Given the description of an element on the screen output the (x, y) to click on. 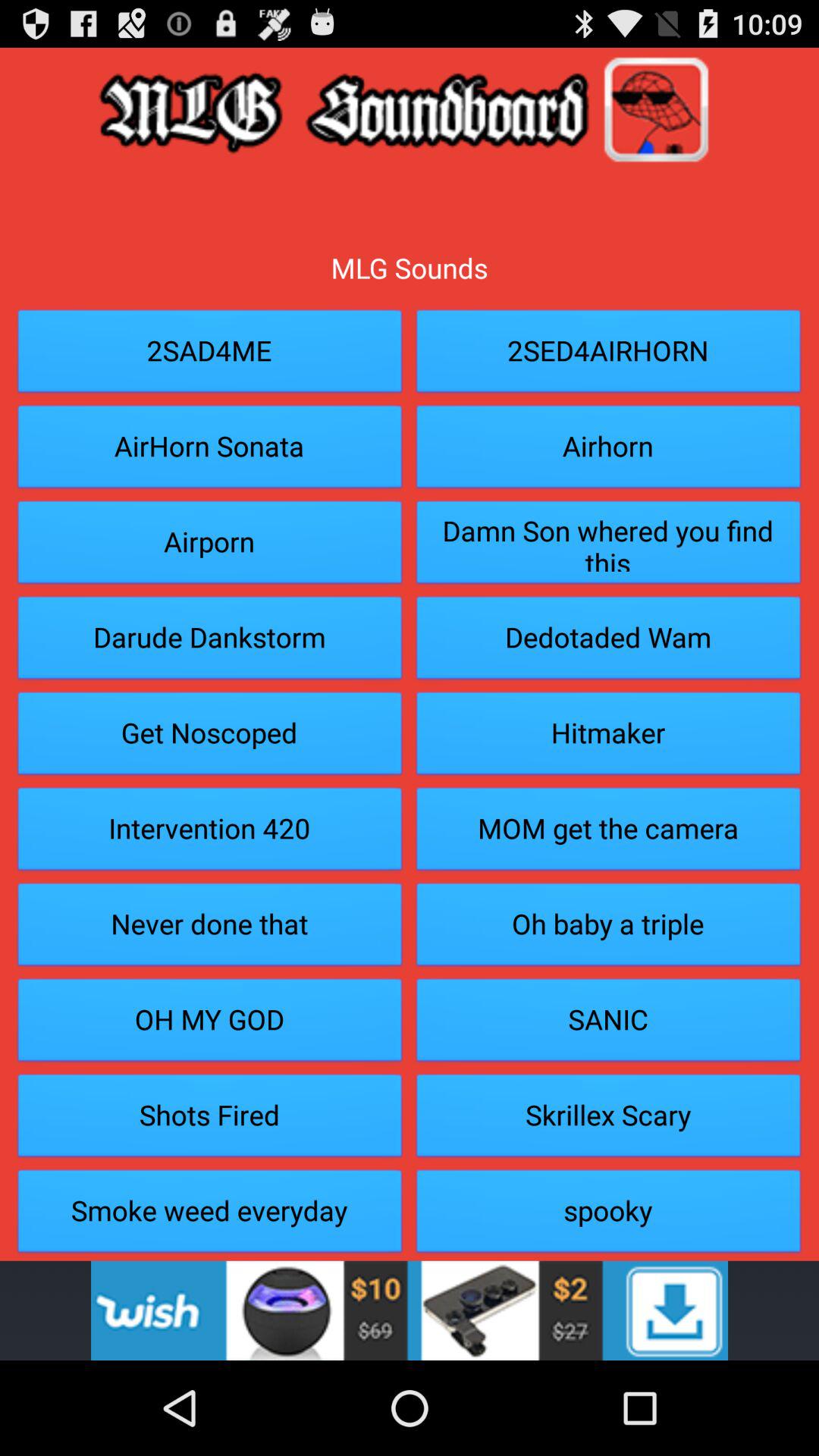
advertisement from outside source (409, 1310)
